Given the description of an element on the screen output the (x, y) to click on. 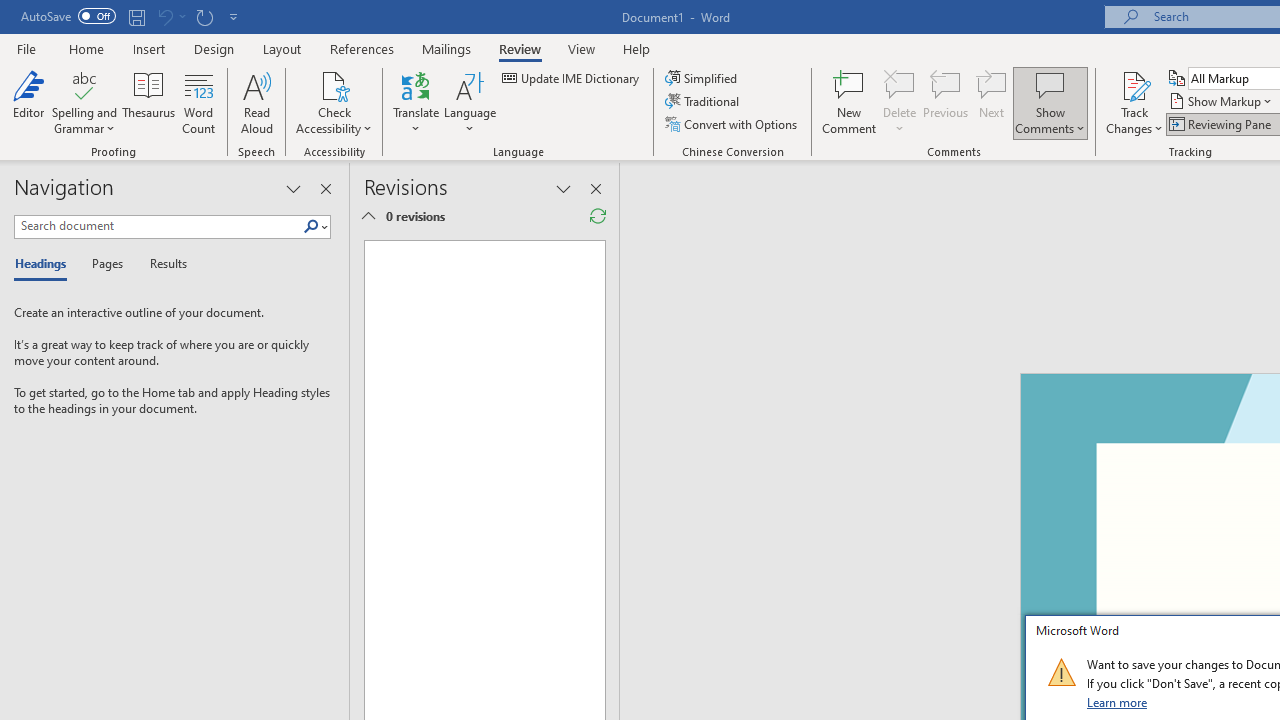
Update IME Dictionary... (572, 78)
Spelling and Grammar (84, 102)
Can't Undo (164, 15)
Track Changes (1134, 102)
Word Count (198, 102)
Can't Undo (170, 15)
Refresh Reviewing Pane (597, 215)
Learn more (1118, 702)
Convert with Options... (732, 124)
